Given the description of an element on the screen output the (x, y) to click on. 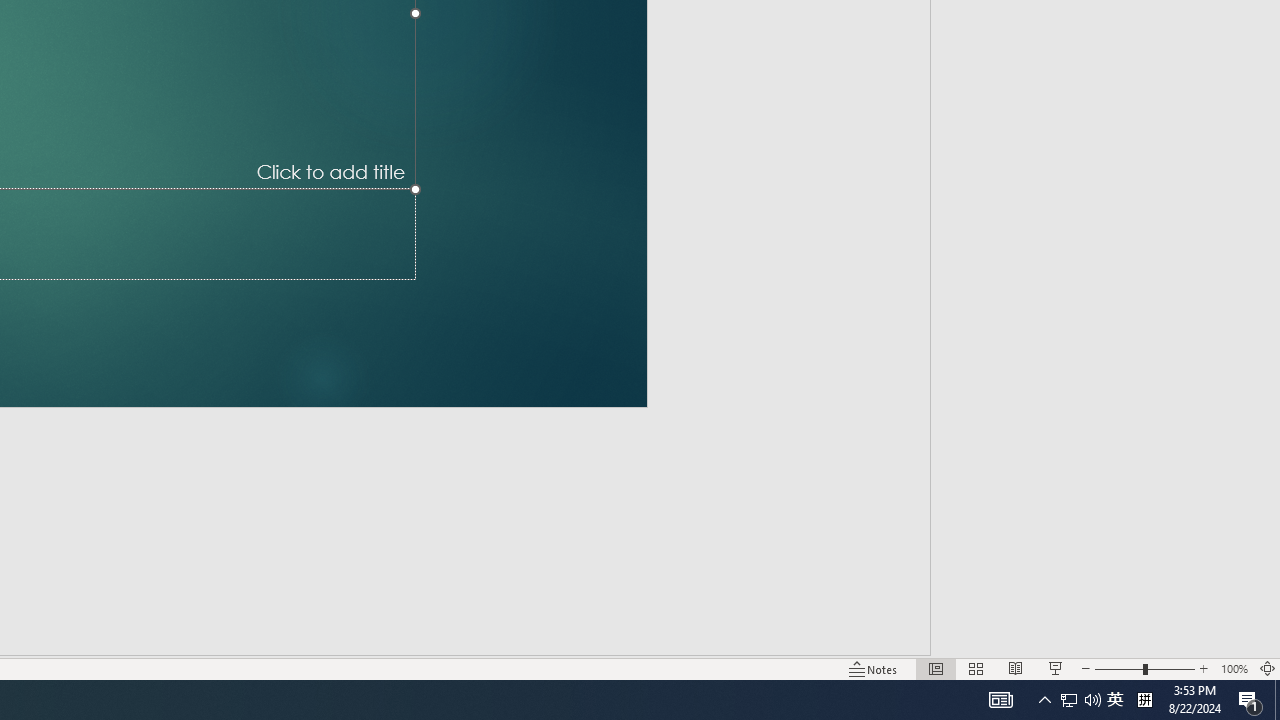
Zoom (1144, 668)
Normal (936, 668)
Zoom to Fit  (1267, 668)
Slide Sorter (975, 668)
Notes  (874, 668)
Zoom 100% (1234, 668)
Reading View (1015, 668)
Zoom In (1204, 668)
Zoom Out (1118, 668)
